Given the description of an element on the screen output the (x, y) to click on. 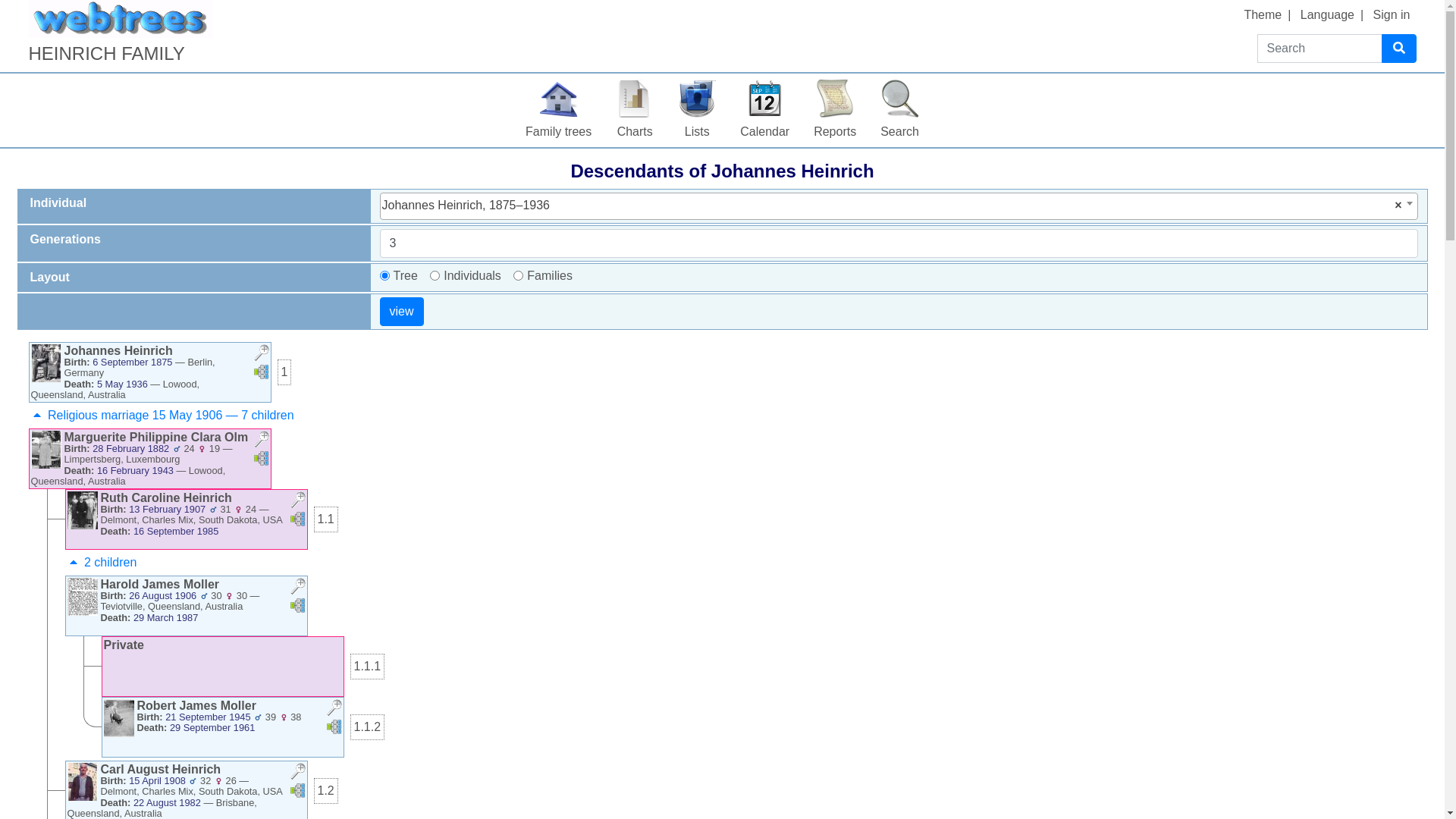
Ruth Caroline Heinrich Element type: text (165, 497)
Marguerite Philippine Clara Olm Element type: text (155, 436)
Links Element type: text (296, 587)
Links Element type: text (260, 440)
Robert James Moller Element type: text (195, 705)
Links Element type: text (296, 793)
Links Element type: text (260, 354)
2 children Element type: text (101, 562)
Charts Element type: text (634, 110)
Links Element type: text (296, 608)
Theme Element type: text (1262, 15)
Carl August Heinrich Element type: text (160, 768)
Calendar Element type: text (764, 110)
Sign in Element type: text (1391, 15)
Links Element type: text (260, 461)
Links Element type: text (260, 374)
view Element type: text (401, 311)
Links Element type: text (333, 729)
Lists Element type: text (696, 110)
Reports Element type: text (834, 110)
Links Element type: text (296, 521)
Links Element type: hover (260, 457)
Language Element type: text (1327, 15)
Harold James Moller Element type: text (159, 583)
Links Element type: hover (296, 604)
Links Element type: hover (296, 518)
Search Element type: text (899, 110)
Links Element type: text (296, 501)
Links Element type: text (296, 772)
Links Element type: text (333, 709)
Family trees Element type: text (558, 110)
Links Element type: hover (333, 726)
Links Element type: hover (296, 789)
Johannes Heinrich Element type: text (117, 350)
Links Element type: hover (260, 371)
